Given the description of an element on the screen output the (x, y) to click on. 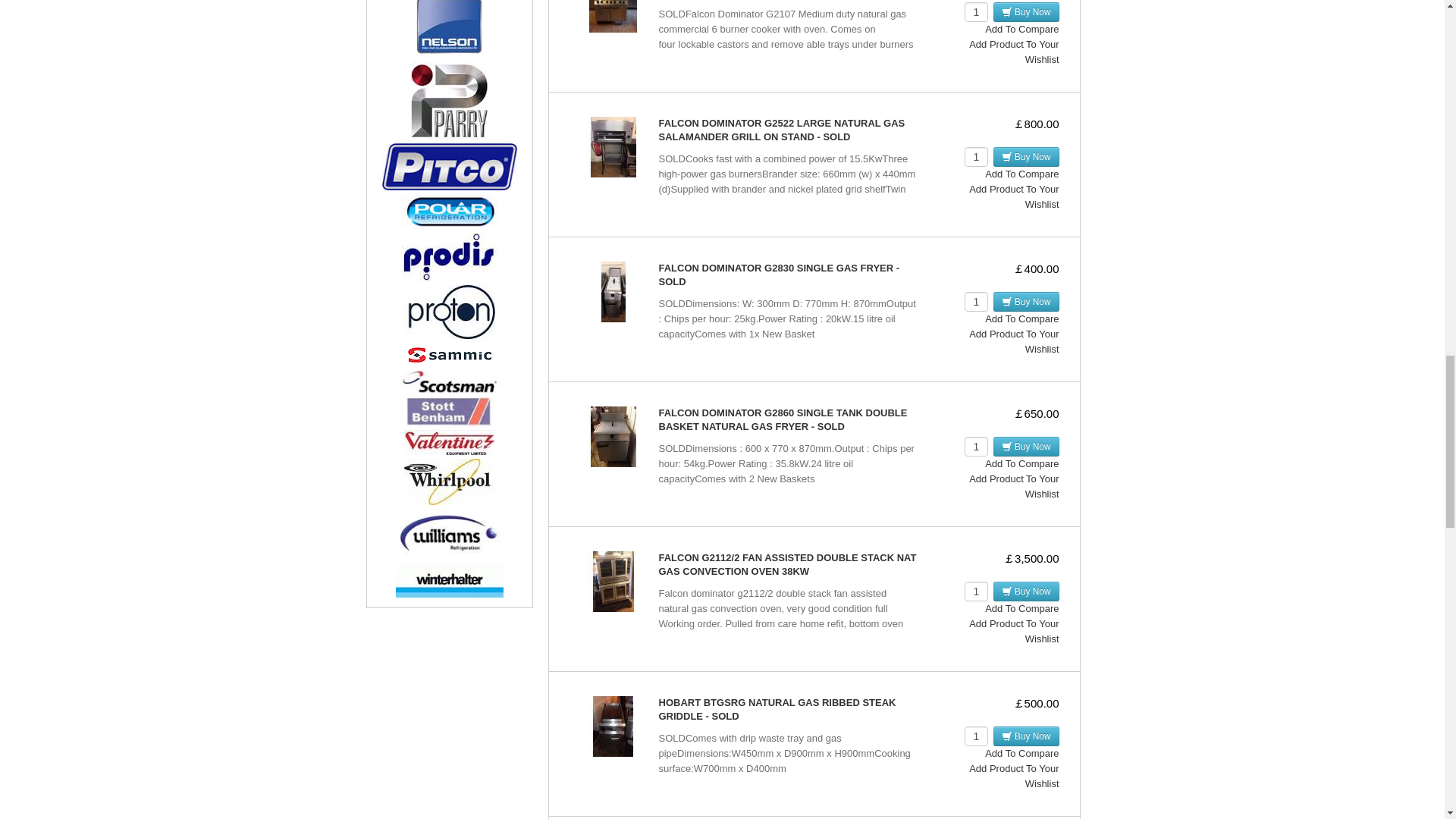
1 (975, 736)
1 (975, 591)
1 (975, 301)
1 (975, 157)
1 (975, 12)
1 (975, 446)
